Given the description of an element on the screen output the (x, y) to click on. 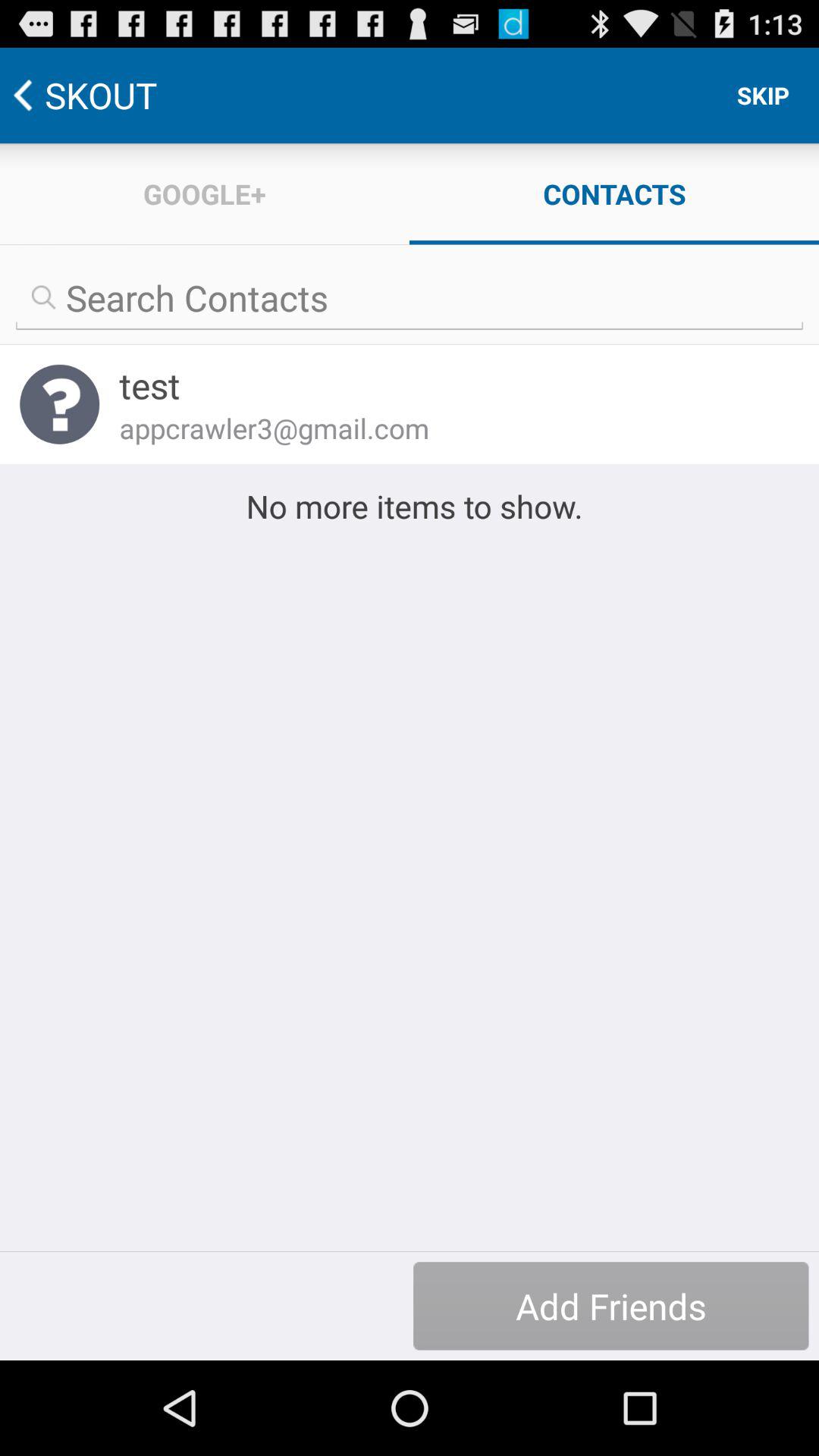
launch icon above no more items (449, 428)
